Given the description of an element on the screen output the (x, y) to click on. 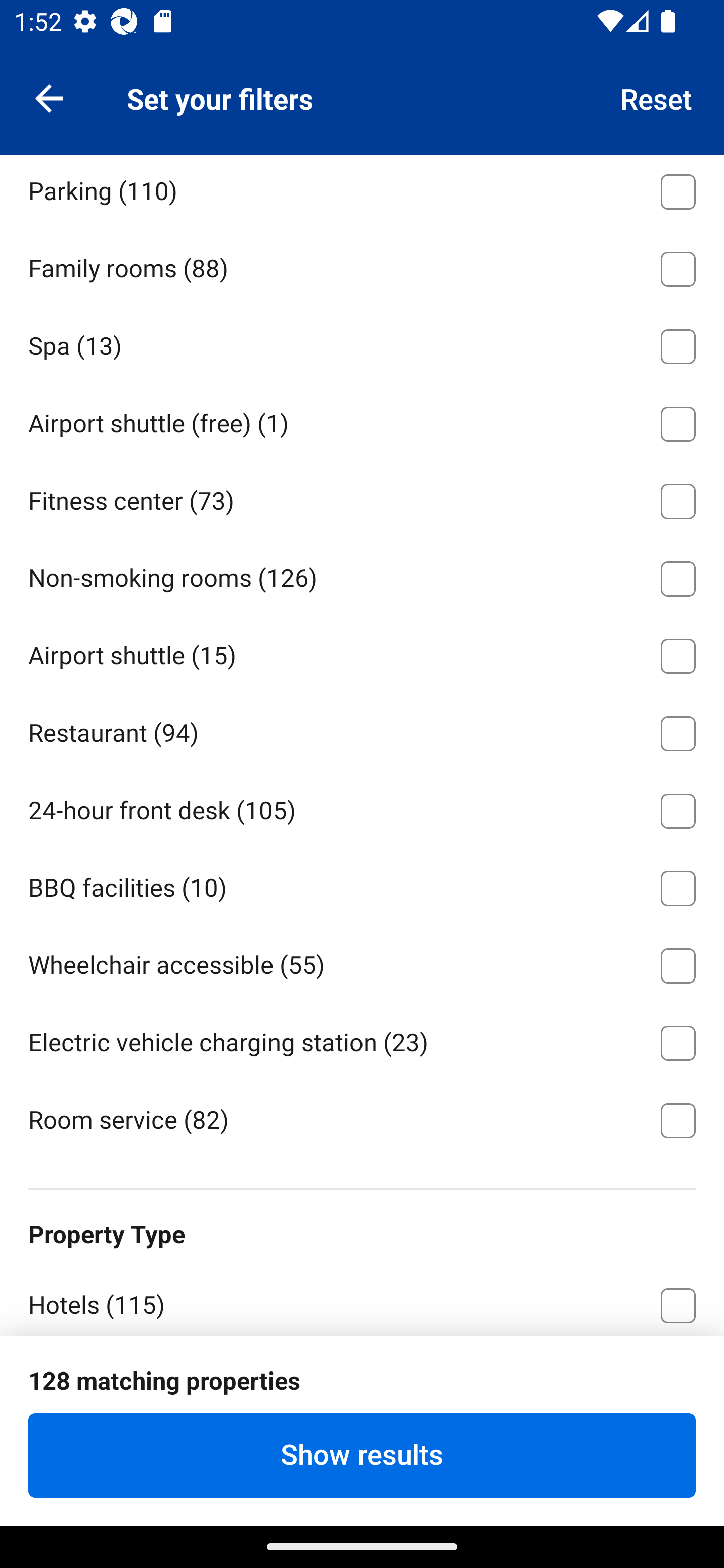
Navigate up (49, 97)
Reset (656, 97)
Pet friendly ⁦(11) (361, 111)
Parking ⁦(110) (361, 191)
Family rooms ⁦(88) (361, 265)
Spa ⁦(13) (361, 343)
Airport shuttle (free) ⁦(1) (361, 420)
Fitness center ⁦(73) (361, 497)
Non-smoking rooms ⁦(126) (361, 575)
Airport shuttle ⁦(15) (361, 652)
Restaurant ⁦(94) (361, 729)
24-hour front desk ⁦(105) (361, 807)
BBQ facilities ⁦(10) (361, 884)
Wheelchair accessible ⁦(55) (361, 961)
Electric vehicle charging station ⁦(23) (361, 1039)
Room service ⁦(82) (361, 1118)
Hotels ⁦(115) (361, 1299)
Entire homes & apartments ⁦(61) (361, 1378)
Family-Friendly Properties ⁦(9) (361, 1456)
